Given the description of an element on the screen output the (x, y) to click on. 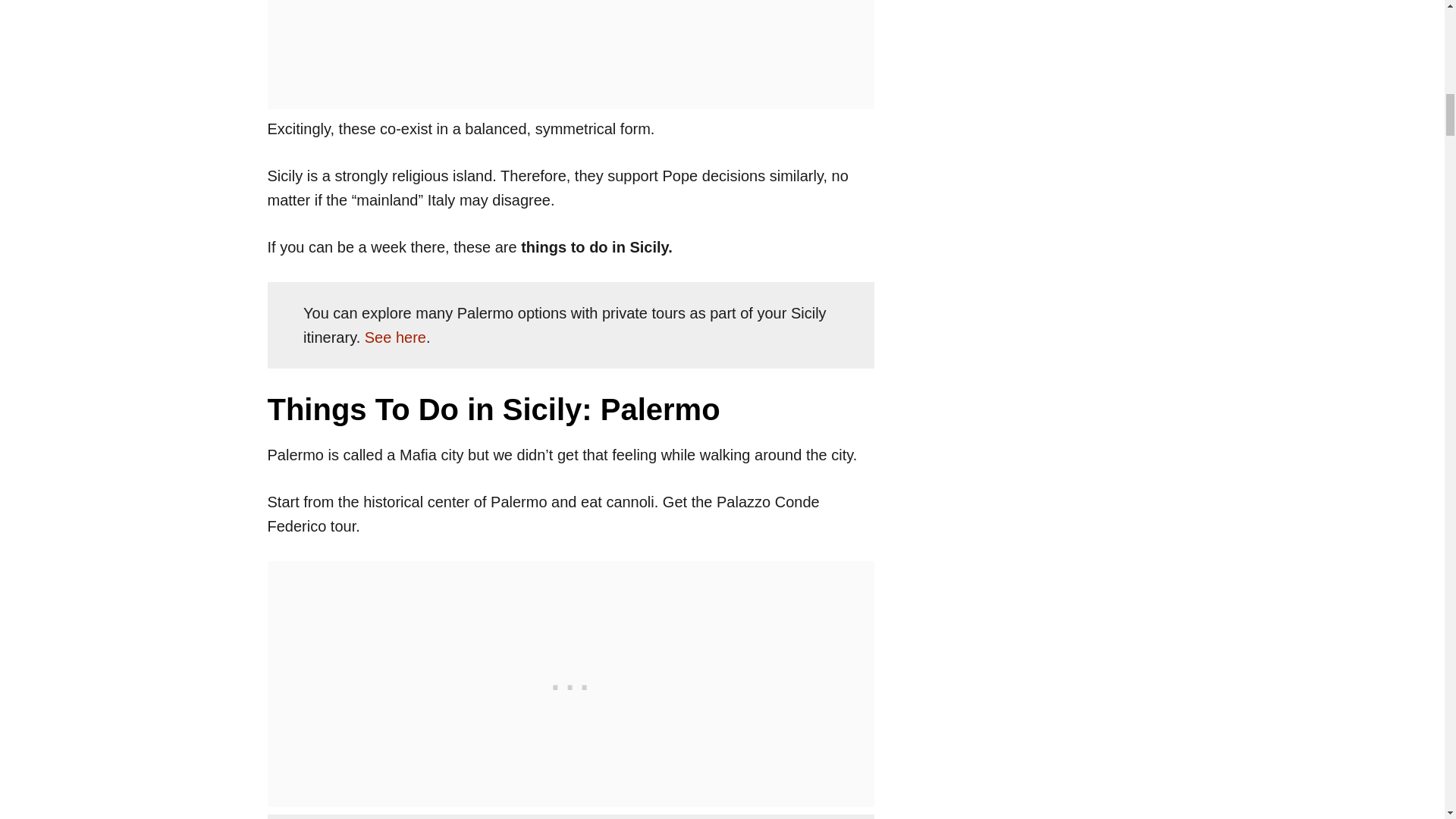
See here (395, 337)
